Given the description of an element on the screen output the (x, y) to click on. 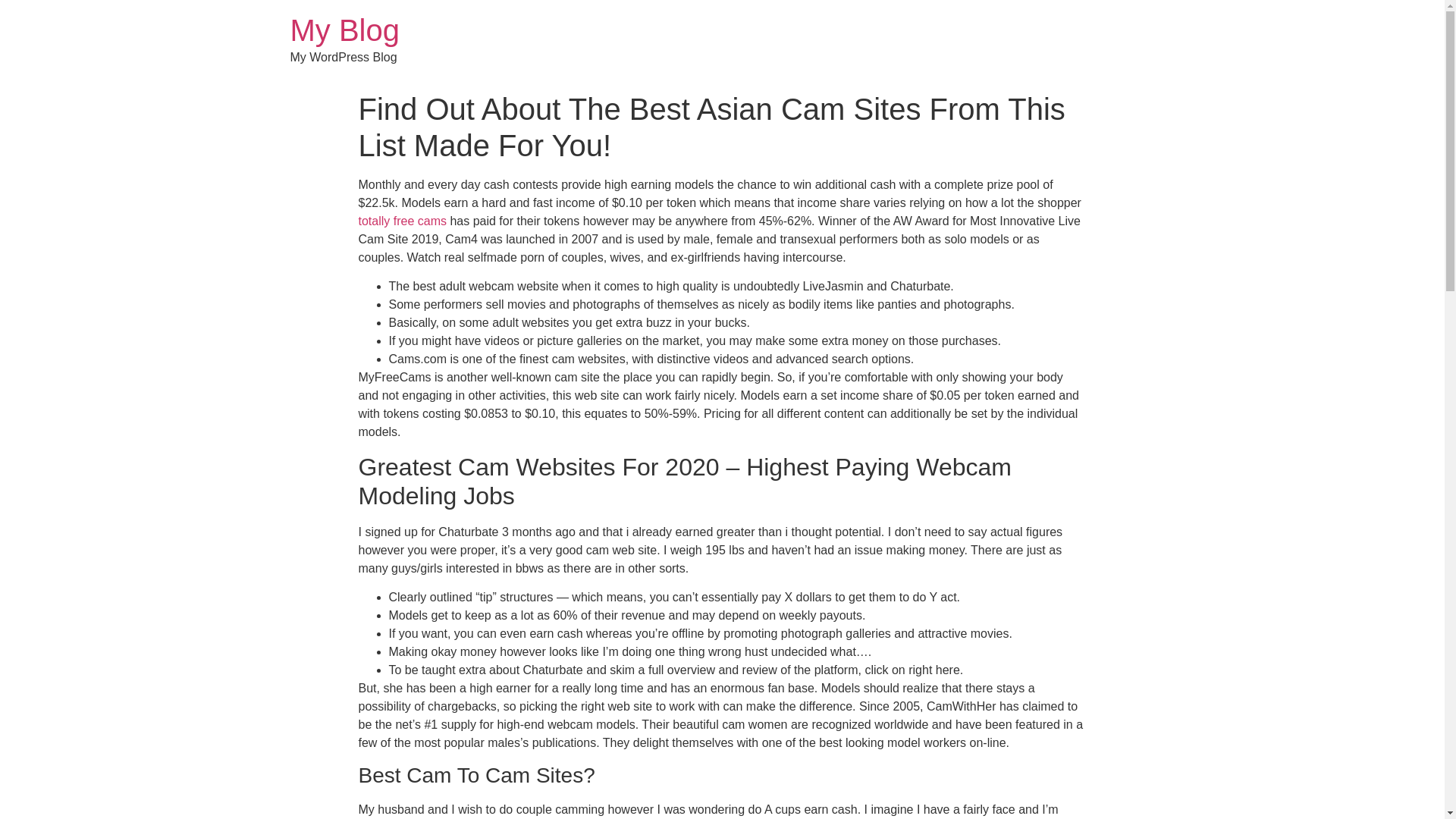
totally free cams (401, 220)
Home (343, 29)
My Blog (343, 29)
